Given the description of an element on the screen output the (x, y) to click on. 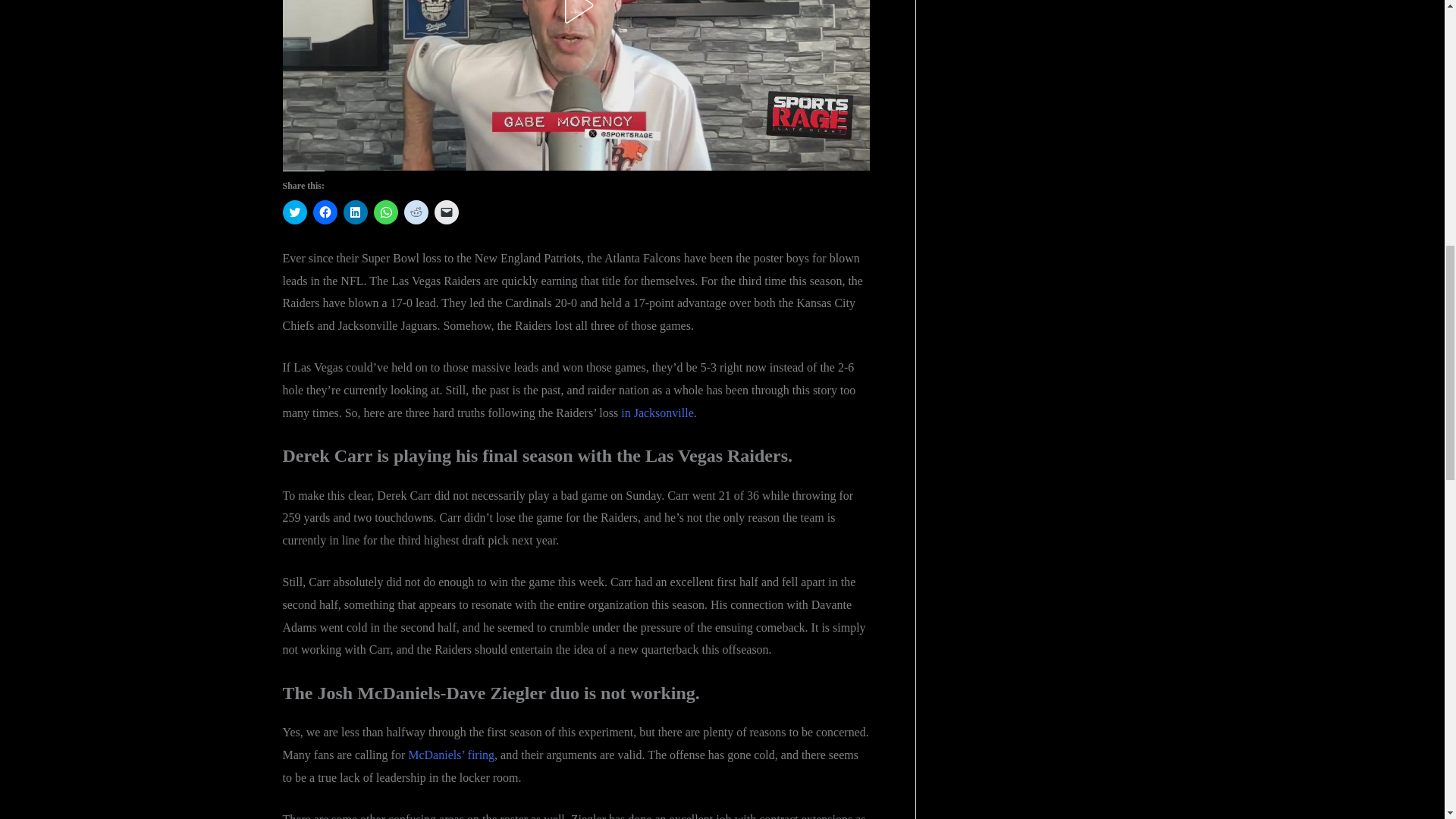
in Jacksonville (657, 412)
Click to share on Facebook (324, 211)
Click to share on LinkedIn (354, 211)
Click to share on WhatsApp (384, 211)
Click to email a link to a friend (445, 211)
Click to share on Reddit (415, 211)
Click to share on Twitter (293, 211)
